Given the description of an element on the screen output the (x, y) to click on. 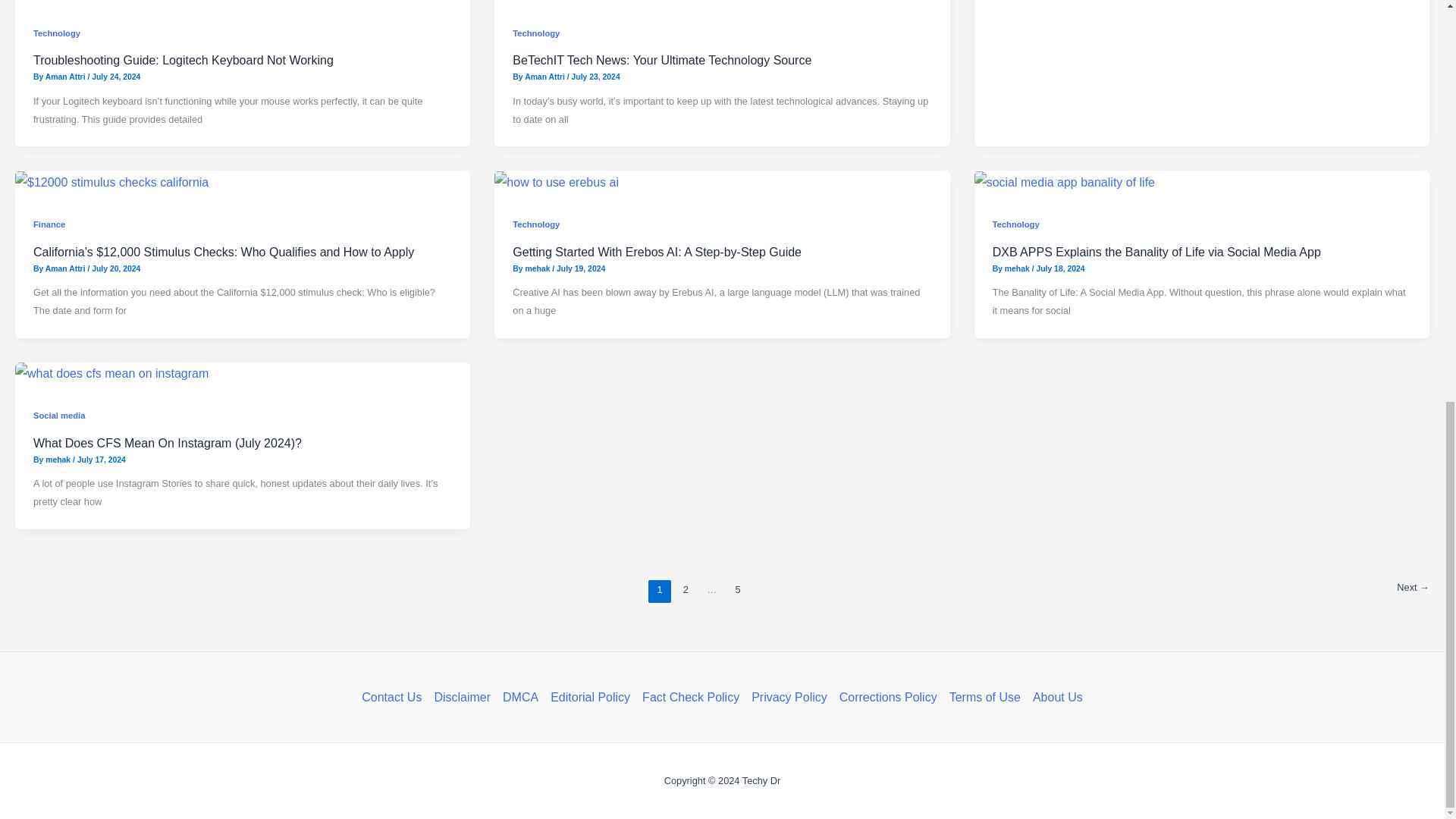
BeTechIT Tech News: Your Ultimate Technology Source (661, 60)
Technology (535, 32)
View all posts by mehak (1018, 267)
Finance (49, 224)
Aman Attri (545, 76)
Technology (56, 32)
View all posts by mehak (58, 459)
View all posts by Aman Attri (66, 267)
Troubleshooting Guide: Logitech Keyboard Not Working (183, 60)
Aman Attri (66, 76)
View all posts by Aman Attri (66, 76)
View all posts by Aman Attri (545, 76)
View all posts by mehak (537, 267)
